Given the description of an element on the screen output the (x, y) to click on. 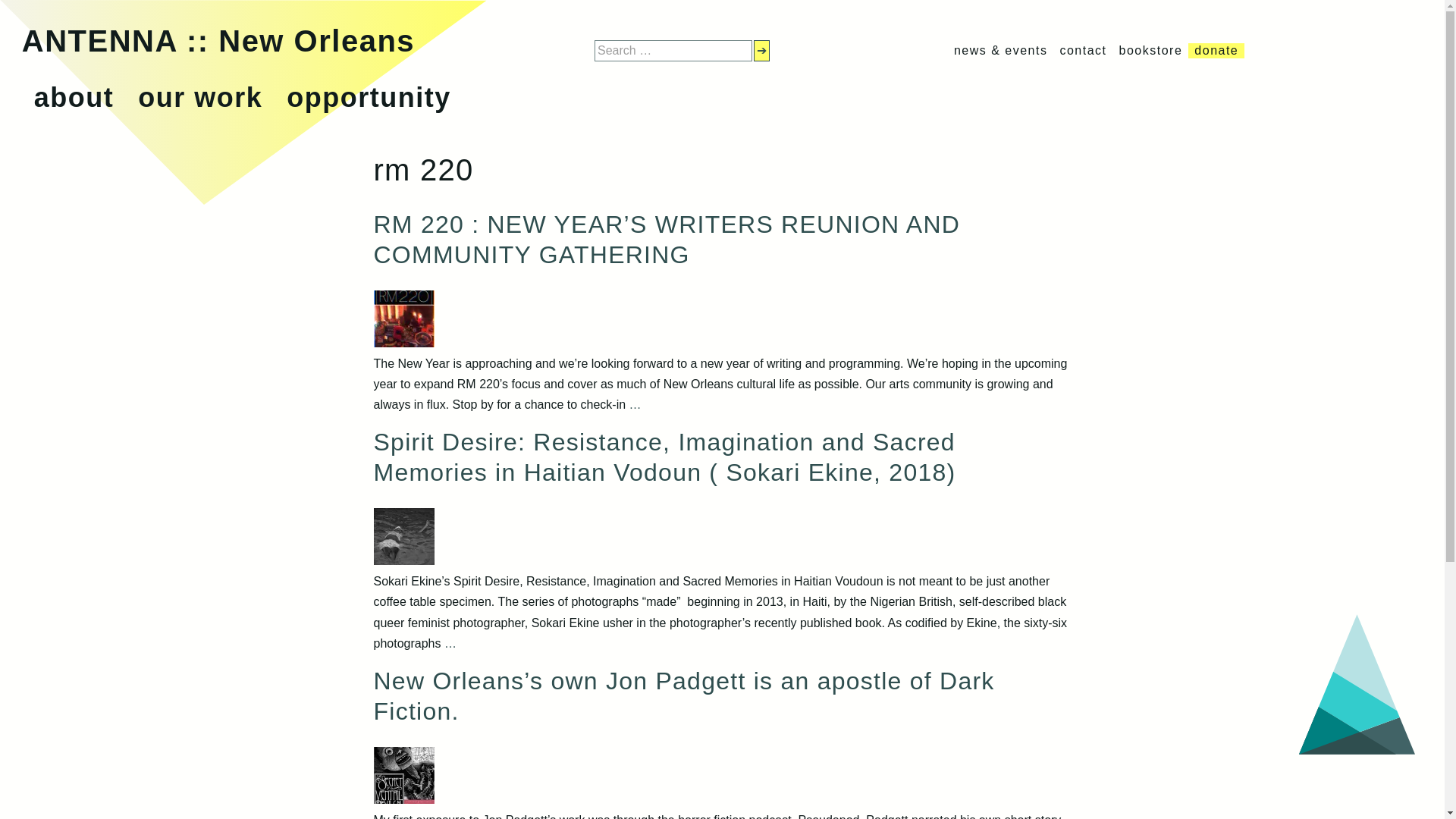
ANTENNA :: New Orleans (217, 40)
our work (200, 97)
contact (1082, 50)
opportunity (367, 97)
donate (1216, 50)
about (73, 97)
Antenna (217, 40)
bookstore (1150, 50)
